Given the description of an element on the screen output the (x, y) to click on. 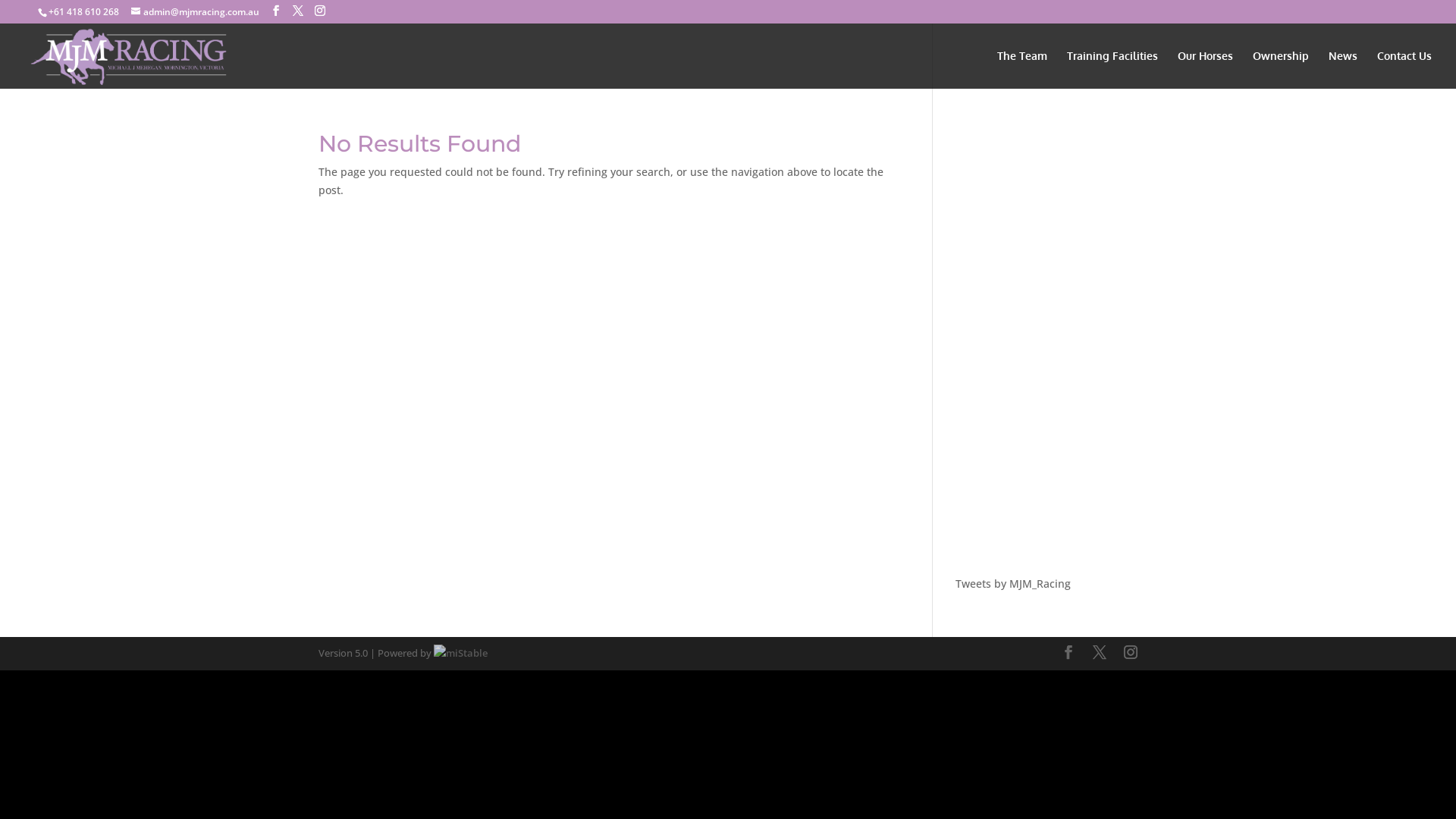
admin@mjmracing.com.au Element type: text (195, 11)
Horse Management Software Element type: hover (460, 652)
News Element type: text (1342, 69)
Training Facilities Element type: text (1111, 69)
Our Horses Element type: text (1205, 69)
Tweets by MJM_Racing Element type: text (1012, 583)
The Team Element type: text (1022, 69)
Contact Us Element type: text (1404, 69)
Ownership Element type: text (1280, 69)
